Given the description of an element on the screen output the (x, y) to click on. 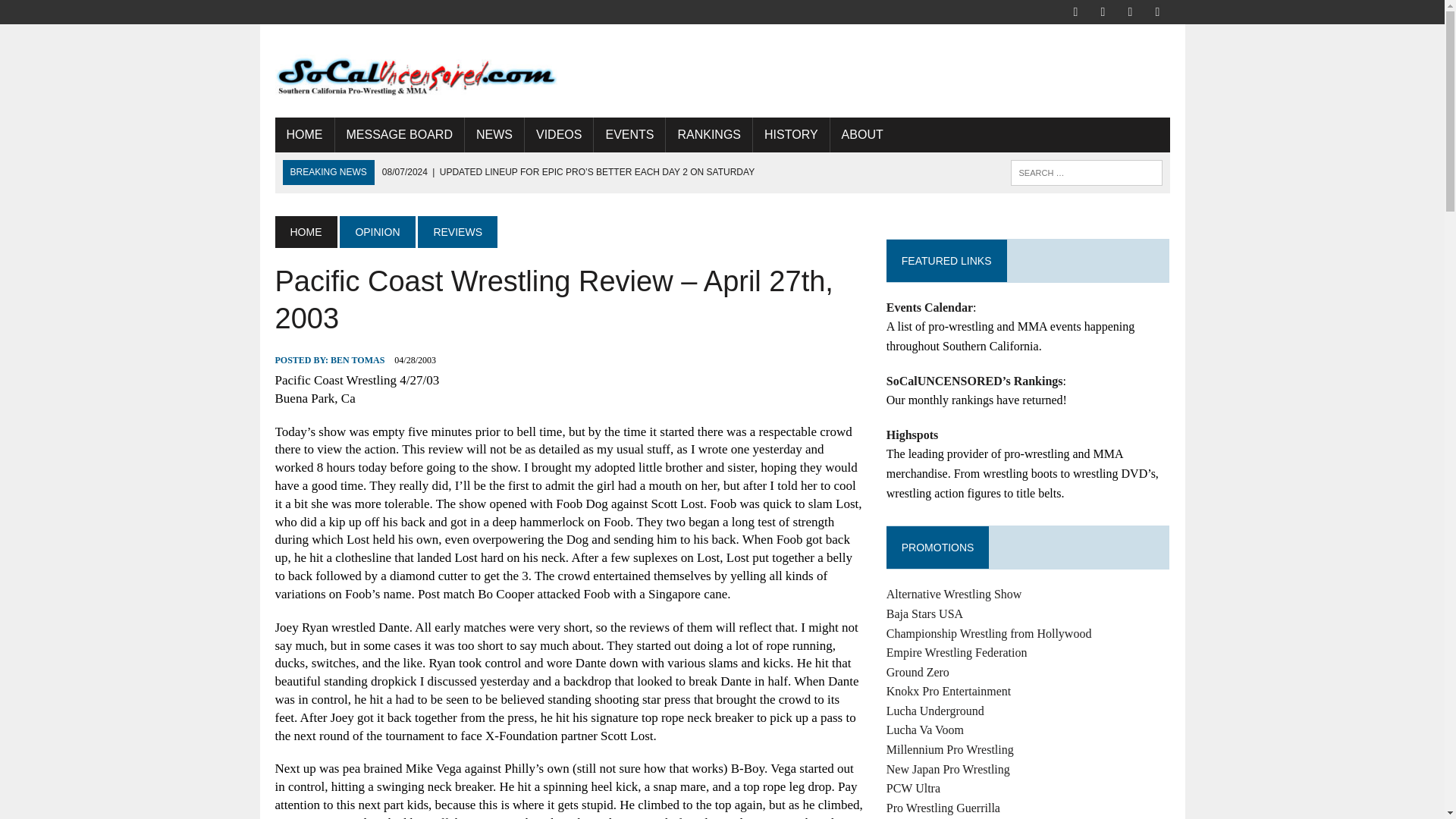
MESSAGE BOARD (399, 134)
HOME (304, 134)
SoCalUNCENSORED.com (416, 70)
NEWS (494, 134)
